Given the description of an element on the screen output the (x, y) to click on. 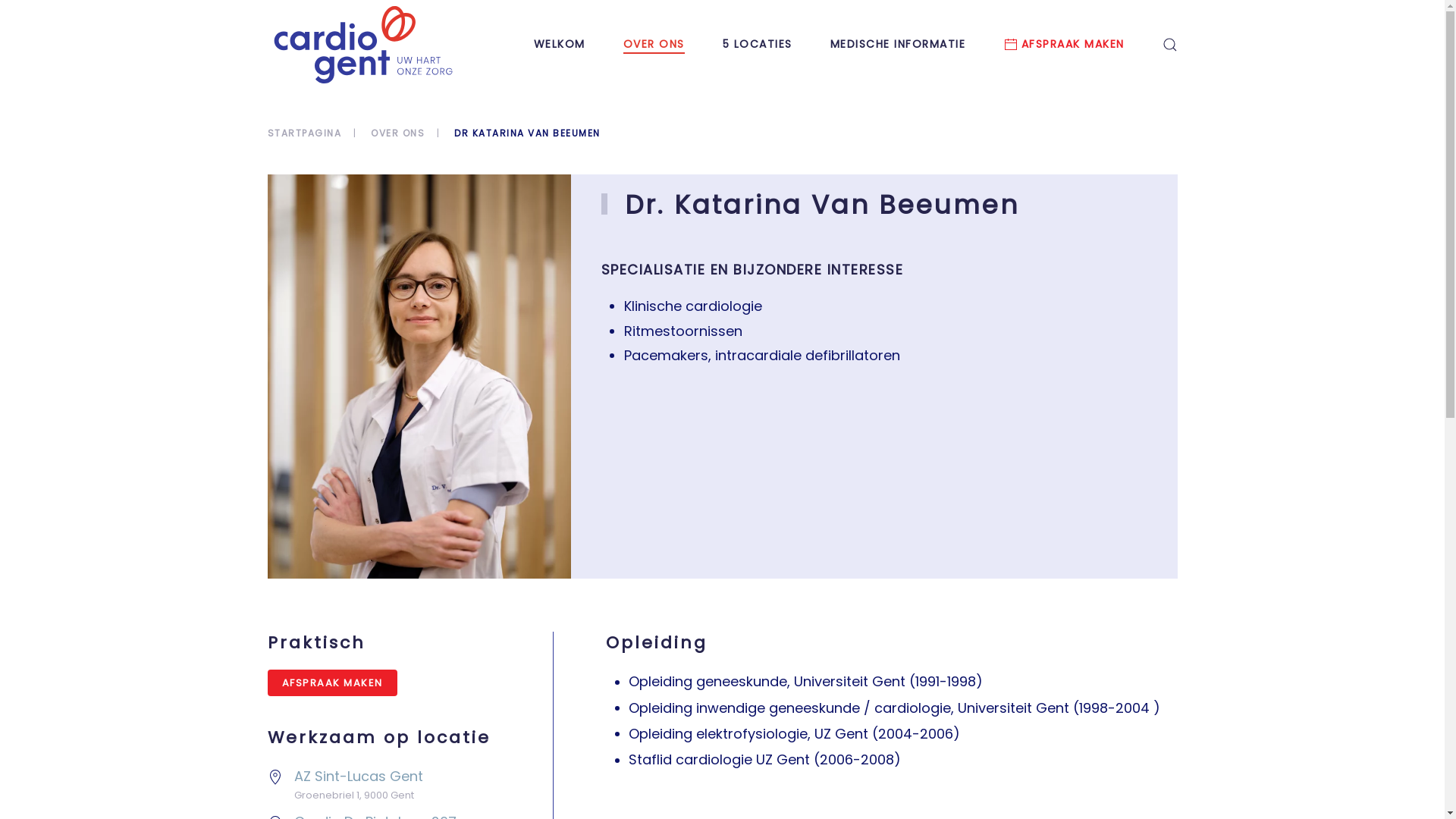
AZ Sint-Lucas Gent Element type: text (358, 775)
AFSPRAAK MAKEN Element type: text (1063, 44)
WELKOM Element type: text (559, 44)
OVER ONS Element type: text (653, 44)
AFSPRAAK MAKEN Element type: text (331, 682)
STARTPAGINA Element type: text (303, 132)
5 LOCATIES Element type: text (756, 44)
MEDISCHE INFORMATIE Element type: text (897, 44)
OVER ONS Element type: text (397, 132)
